Given the description of an element on the screen output the (x, y) to click on. 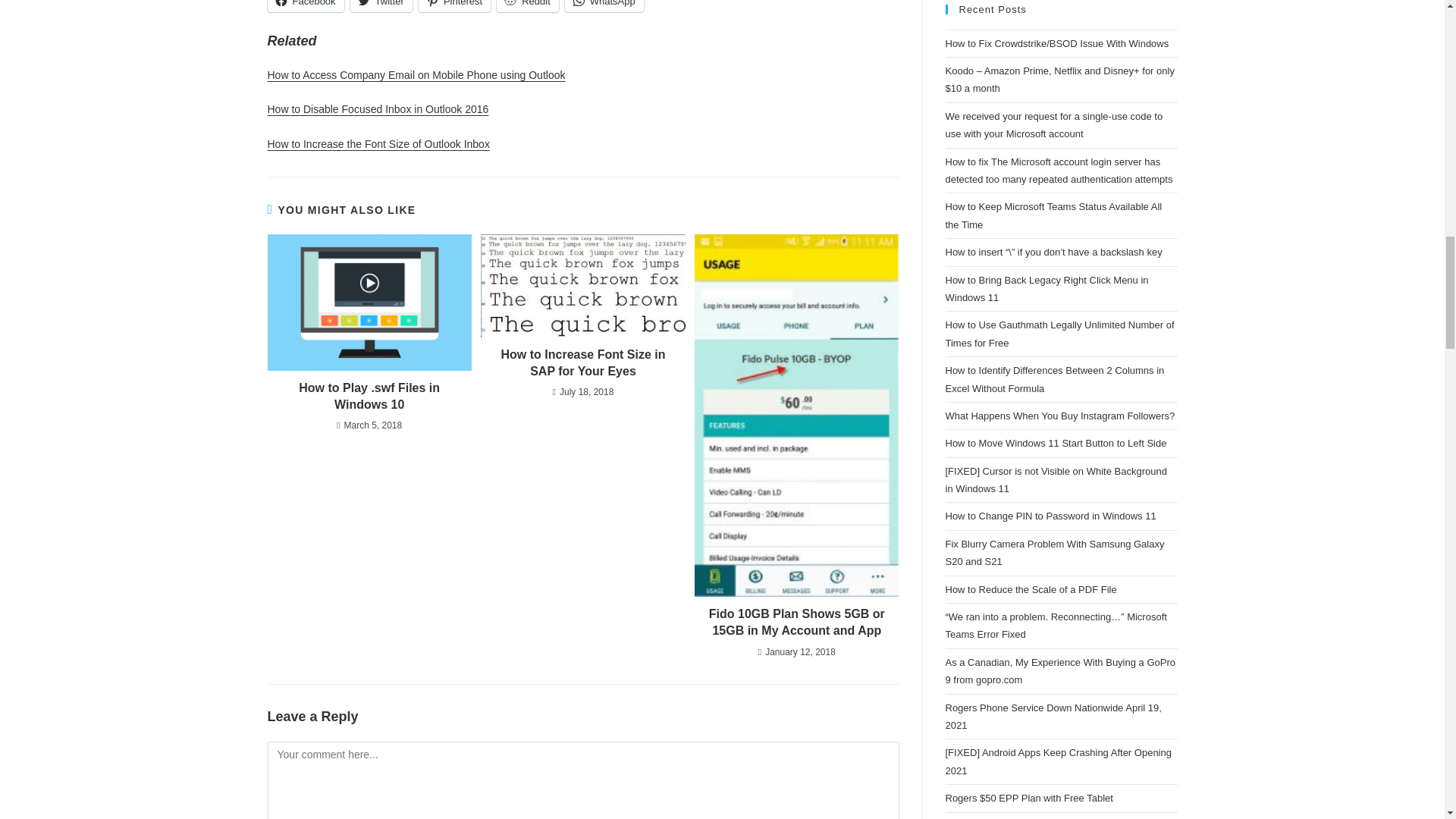
How to Disable Focused Inbox in Outlook 2016 (376, 109)
Click to share on Reddit (527, 6)
How to Disable Focused Inbox in Outlook 2016 (376, 109)
Click to share on Twitter (381, 6)
Twitter (381, 6)
Pinterest (454, 6)
Click to share on WhatsApp (603, 6)
Click to share on Pinterest (454, 6)
Facebook (304, 6)
How to Access Company Email on Mobile Phone using Outlook (415, 74)
